Given the description of an element on the screen output the (x, y) to click on. 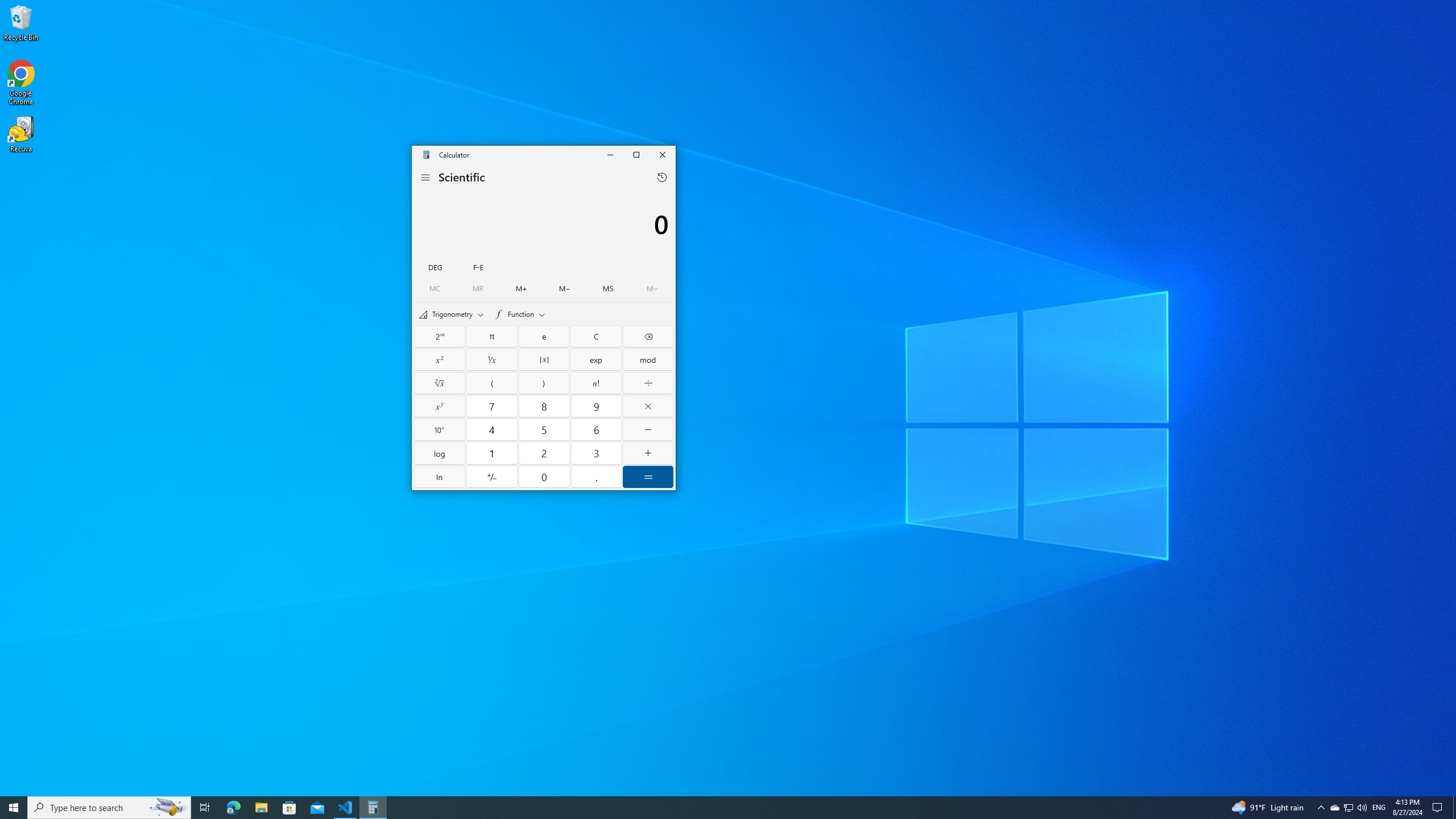
Degrees toggle (434, 265)
Natural log (439, 477)
Three (595, 453)
Multiply by (647, 406)
Functions (519, 314)
Open Navigation (424, 177)
Clear (595, 336)
Close Calculator (662, 154)
Square (439, 359)
Positive negative (490, 477)
Backspace (647, 336)
